Given the description of an element on the screen output the (x, y) to click on. 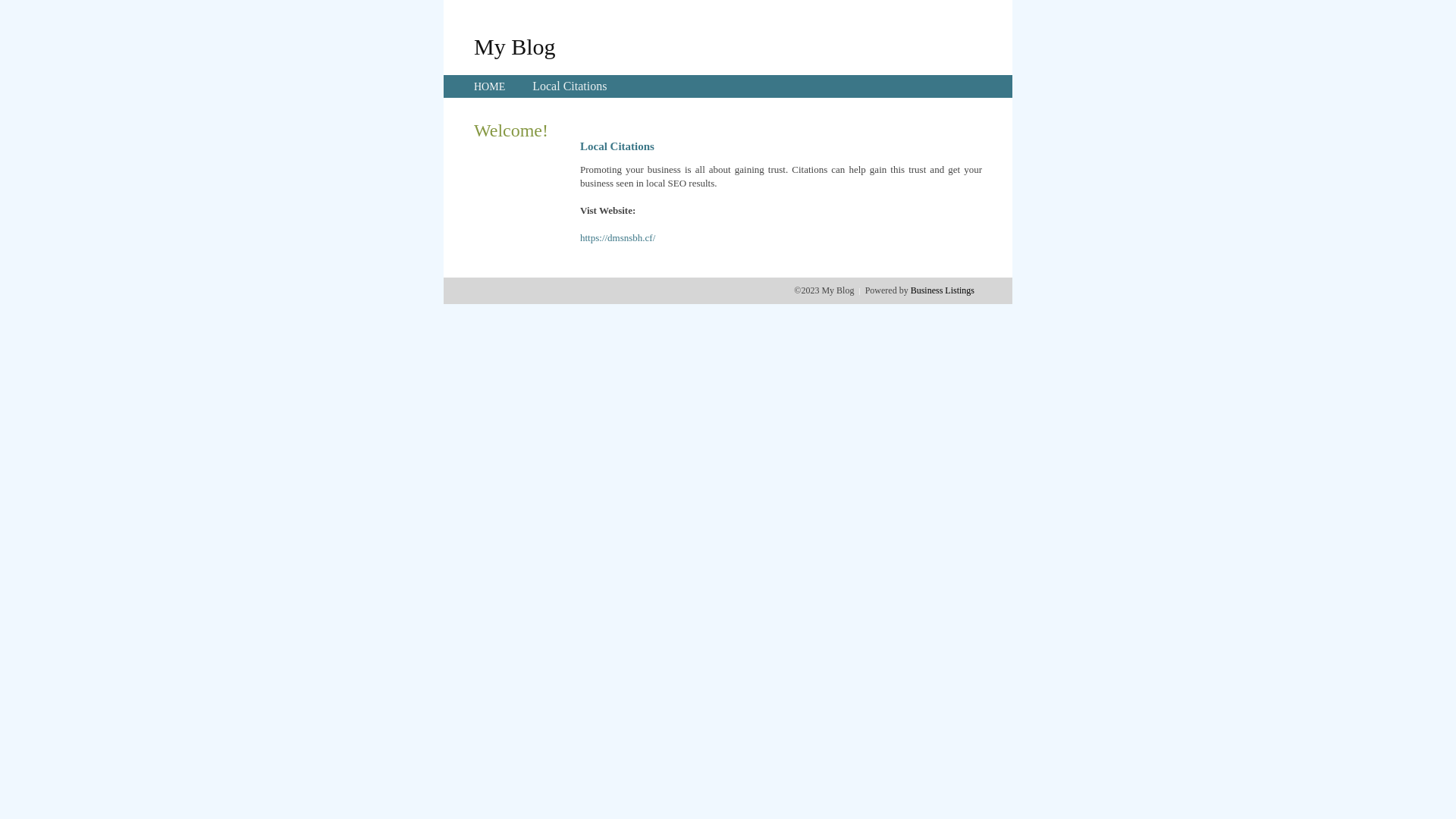
Local Citations Element type: text (569, 85)
https://dmsnsbh.cf/ Element type: text (617, 237)
HOME Element type: text (489, 86)
Business Listings Element type: text (942, 290)
My Blog Element type: text (514, 46)
